Given the description of an element on the screen output the (x, y) to click on. 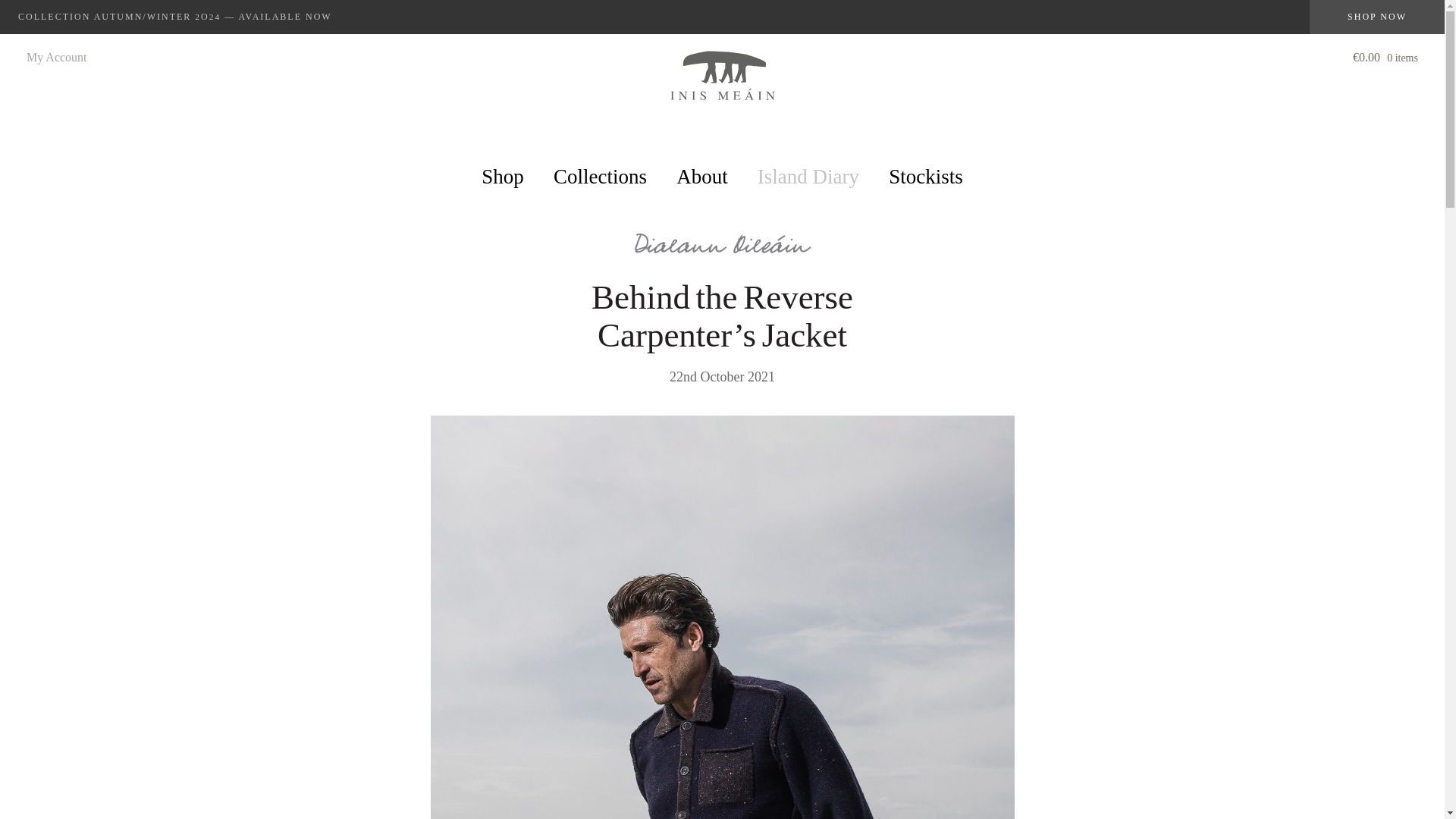
About (702, 176)
Collections (599, 176)
View your shopping bag (1385, 61)
Stockists (925, 176)
My Account (56, 56)
Island Diary. (721, 270)
Shop (502, 176)
Island Diary (808, 176)
Subscribe (1261, 725)
